Given the description of an element on the screen output the (x, y) to click on. 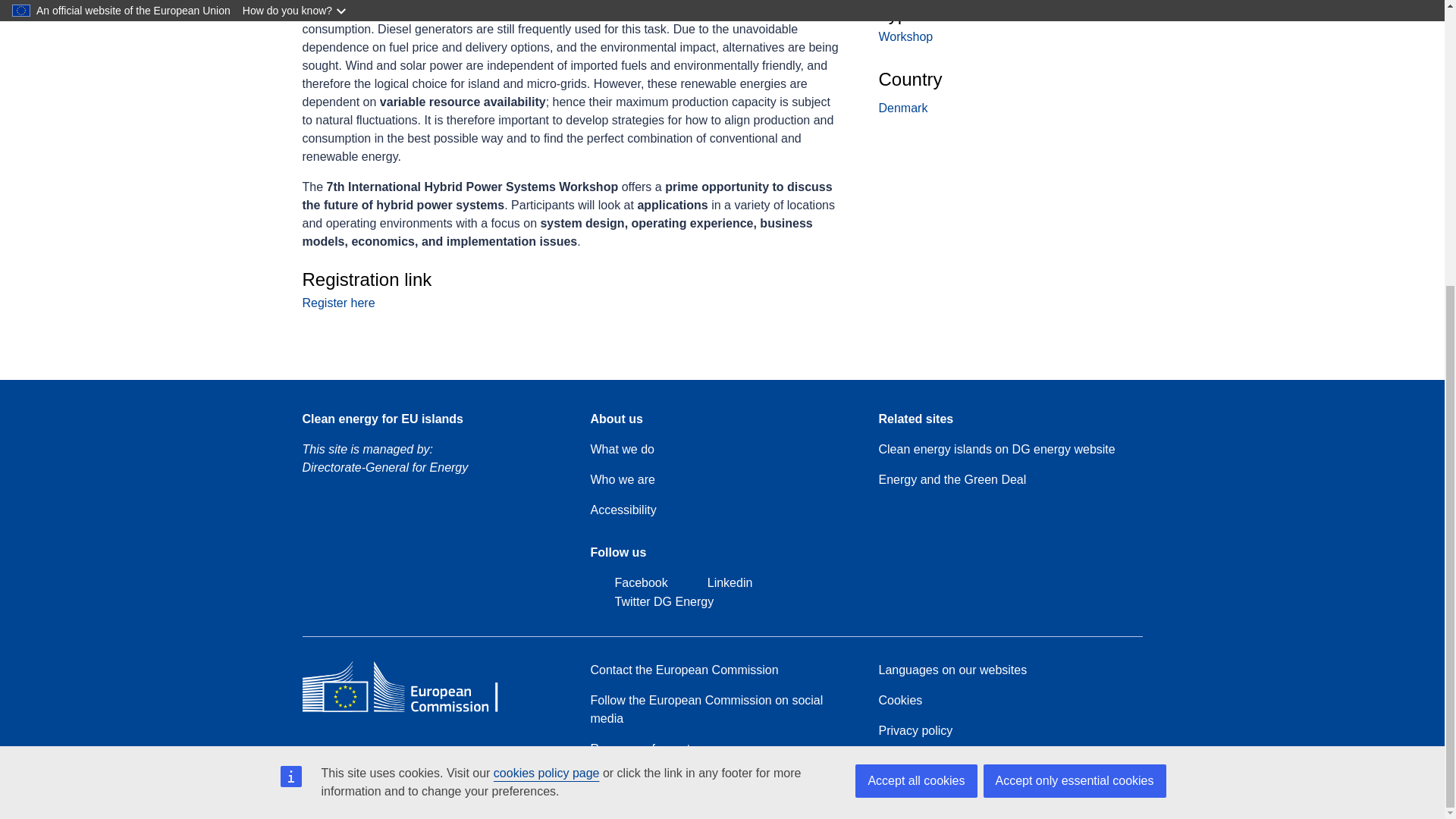
cookies policy page (546, 341)
Accept all cookies (916, 349)
European Commission (411, 711)
Accept only essential cookies (1074, 349)
